Given the description of an element on the screen output the (x, y) to click on. 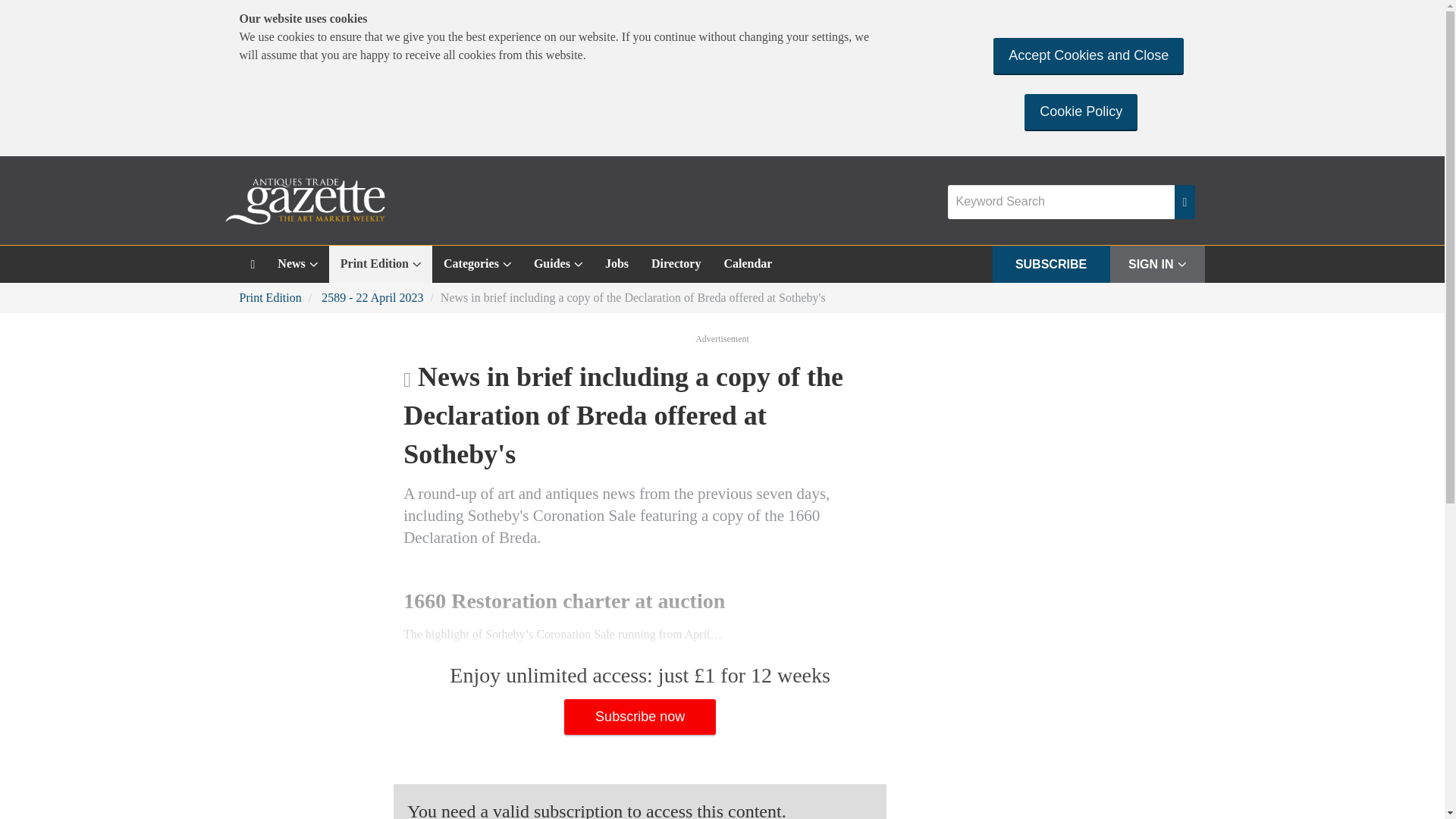
Keyword Search (1060, 202)
Cookie Policy (1081, 111)
News (297, 263)
